Given the description of an element on the screen output the (x, y) to click on. 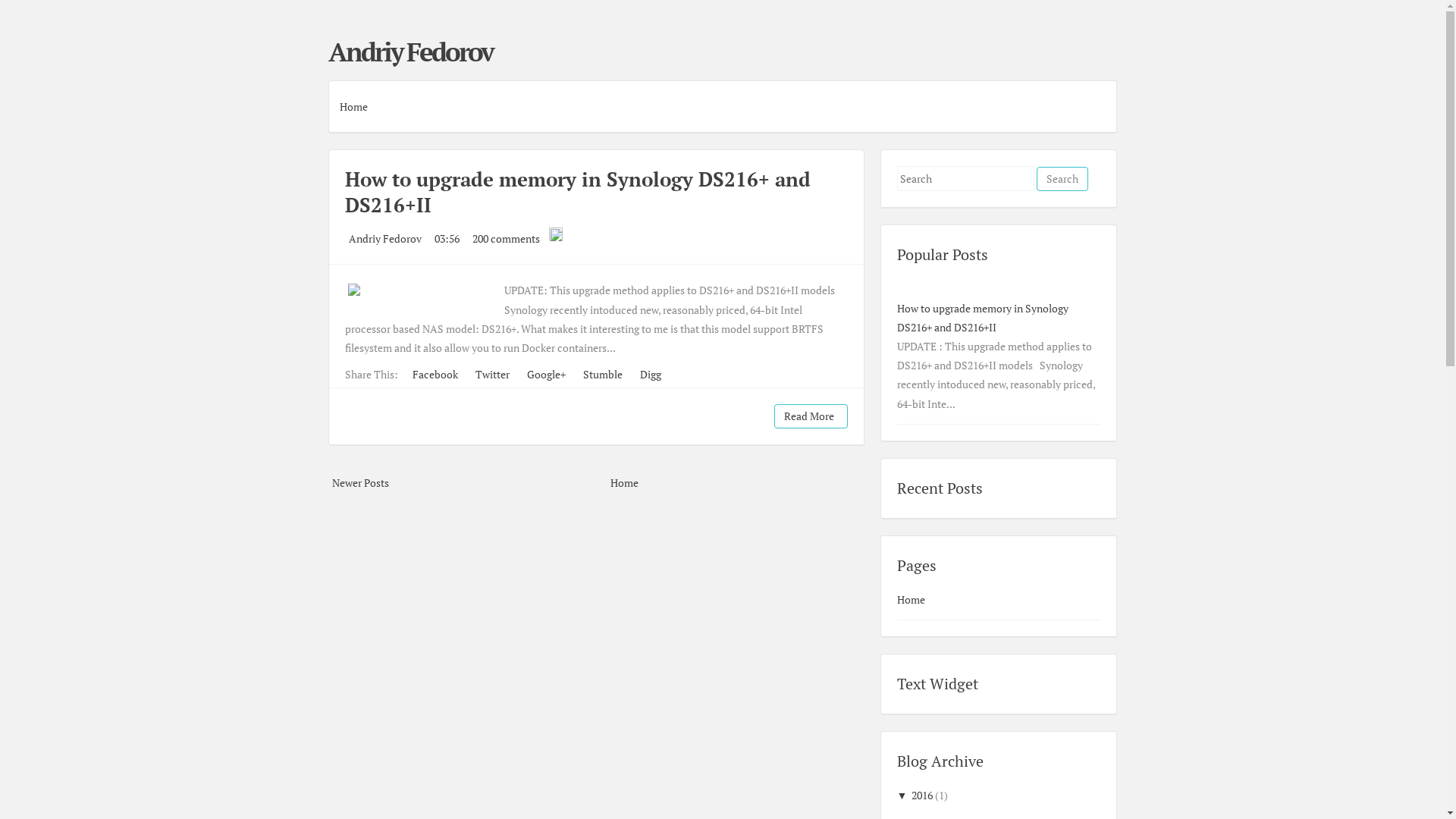
Newer Posts Element type: text (360, 482)
Instagram Element type: hover (1089, 58)
 Stumble Element type: text (601, 373)
 Google+ Element type: text (545, 373)
200 comments Element type: text (505, 238)
How to upgrade memory in Synology DS216+ and DS216+II Element type: text (981, 317)
Read More Element type: text (810, 415)
Edit Post Element type: hover (555, 238)
Andriy Fedorov Element type: text (409, 51)
RSS Element type: hover (1104, 58)
Home Element type: text (624, 482)
 Facebook Element type: text (432, 373)
Andriy Fedorov Element type: text (384, 238)
Home Element type: text (910, 599)
 Twitter Element type: text (491, 373)
Home Element type: text (353, 106)
Search for: Element type: hover (964, 178)
2016 Element type: text (921, 794)
Linkedin Element type: hover (1097, 58)
How to upgrade memory in Synology DS216+ and DS216+II Element type: text (576, 191)
03:56 Element type: text (445, 238)
Search Element type: text (1061, 178)
 Digg Element type: text (648, 373)
